Given the description of an element on the screen output the (x, y) to click on. 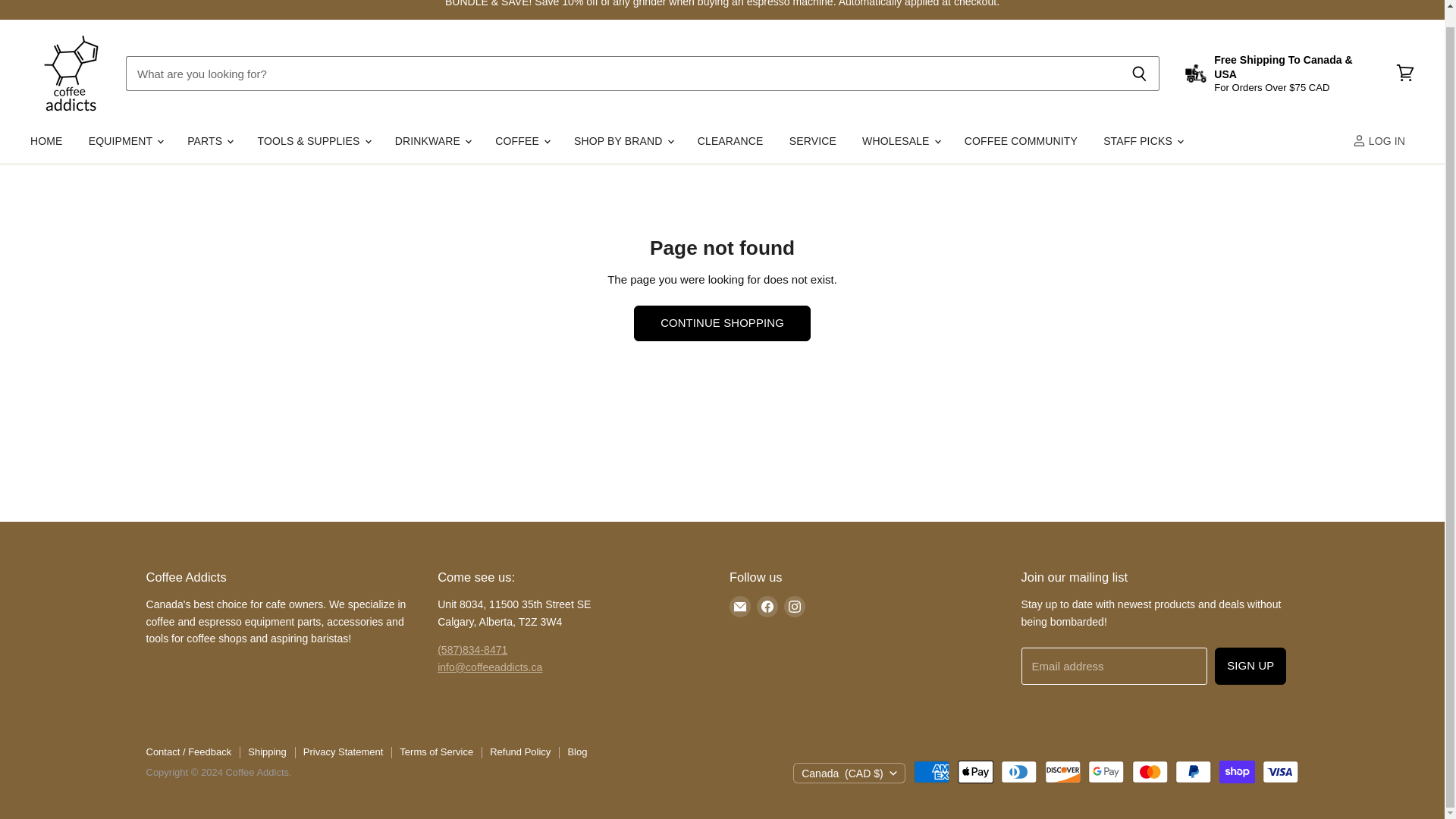
Facebook (767, 605)
Instagram (794, 605)
E-mail (740, 605)
ACCOUNT ICON (1358, 140)
View cart (1405, 73)
HOME (46, 141)
EQUIPMENT (125, 141)
